Given the description of an element on the screen output the (x, y) to click on. 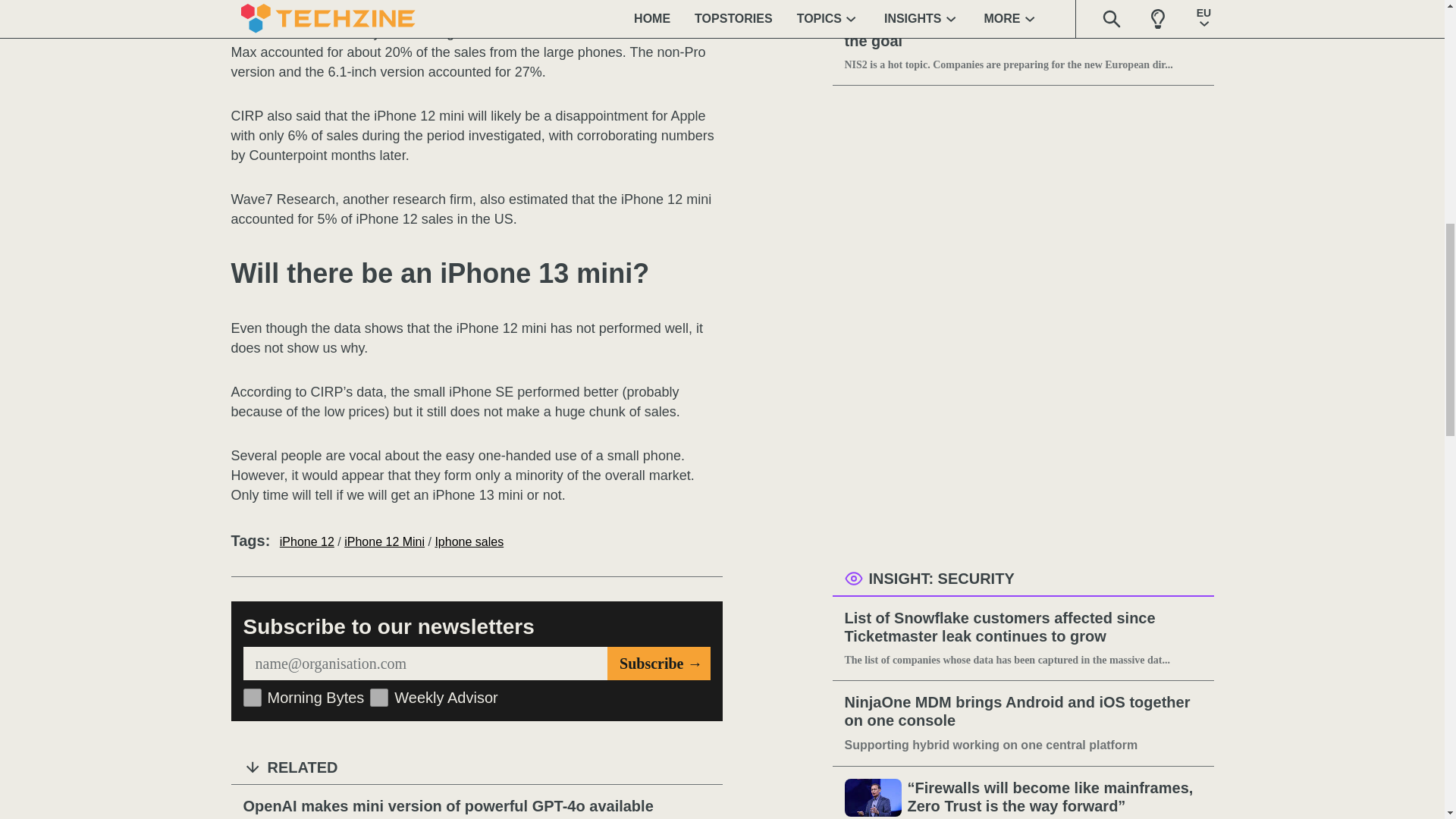
OpenAI makes mini version of powerful GPT-4o available (476, 806)
NinjaOne MDM brings Android and iOS together on one console (1023, 711)
NIS2 compliance is the beginning, better security the goal (1023, 32)
84623970802861205 (251, 697)
84623981521405447 (378, 697)
